Given the description of an element on the screen output the (x, y) to click on. 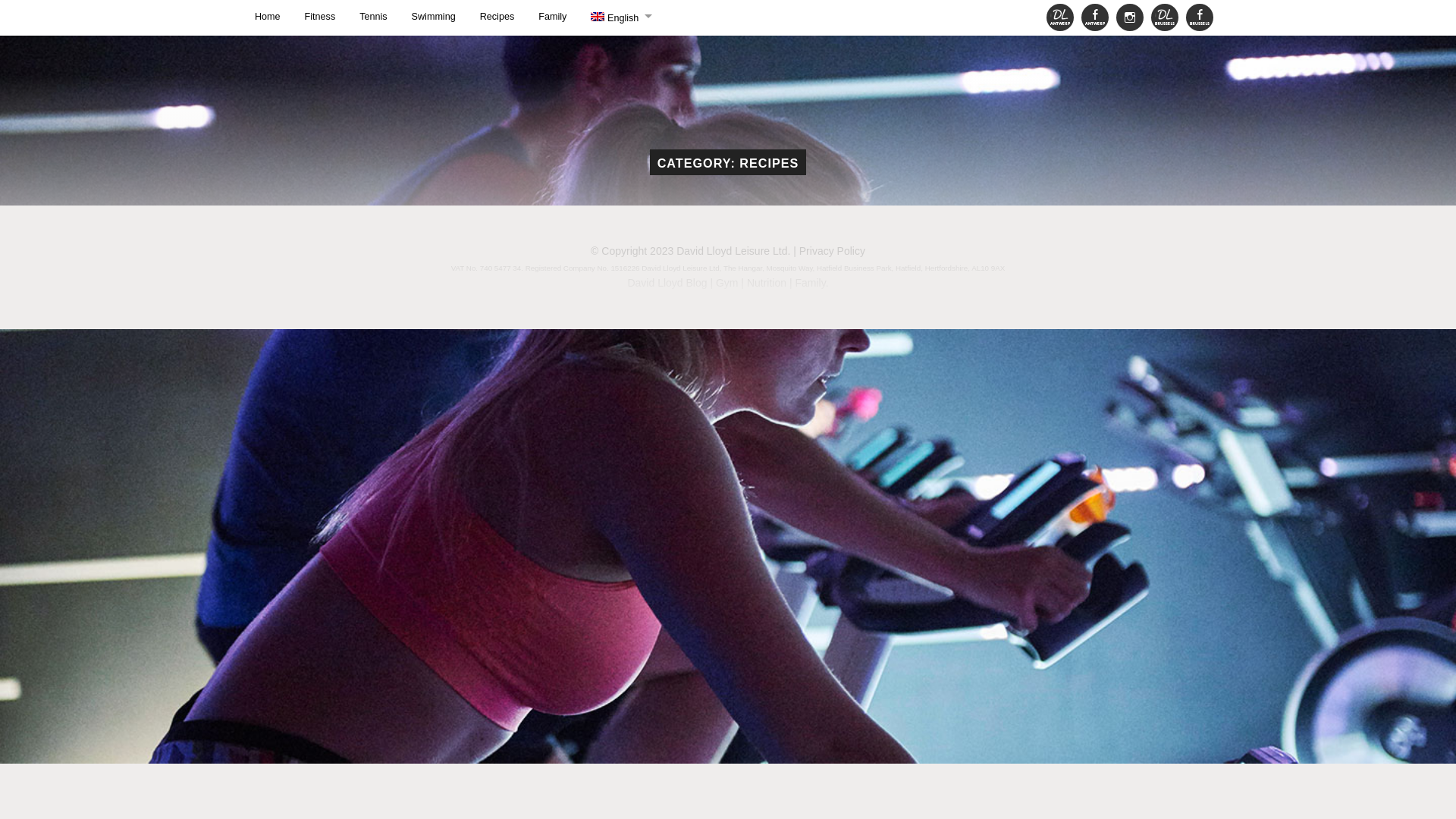
Home Element type: text (267, 17)
Fitness Element type: text (320, 17)
Swimming Element type: text (433, 17)
Family Element type: text (552, 17)
Tennis Element type: text (372, 17)
Privacy Policy Element type: text (832, 250)
Recipes Element type: text (497, 17)
David Lloyd Blog | Gym | Nutrition | Family Element type: text (726, 282)
English Element type: text (626, 17)
